Given the description of an element on the screen output the (x, y) to click on. 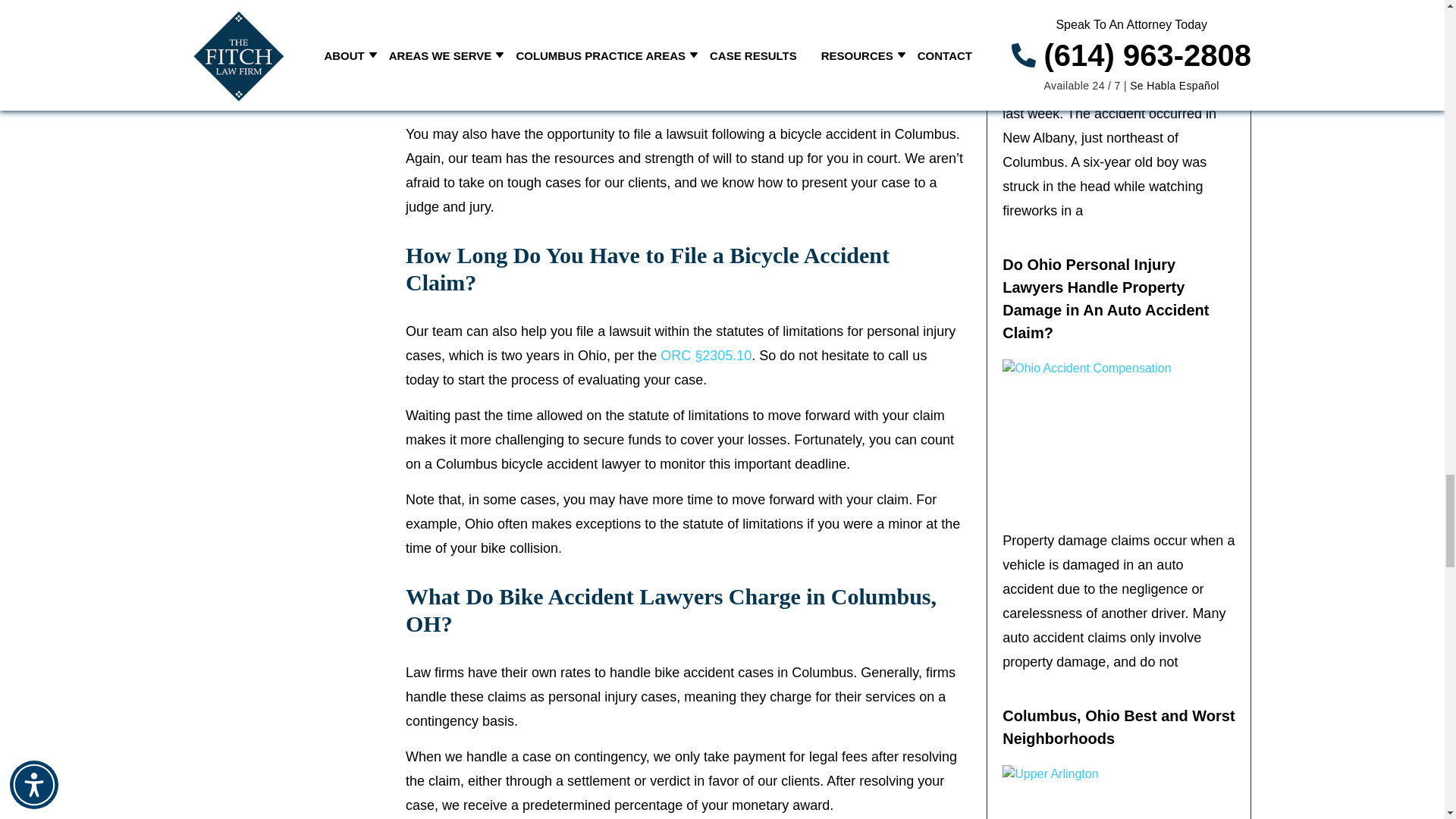
New Albany Boy Severely Injured in Illegal Fireworks Display (1118, 31)
Columbus, Ohio Best and Worst Neighborhoods (1118, 791)
